Given the description of an element on the screen output the (x, y) to click on. 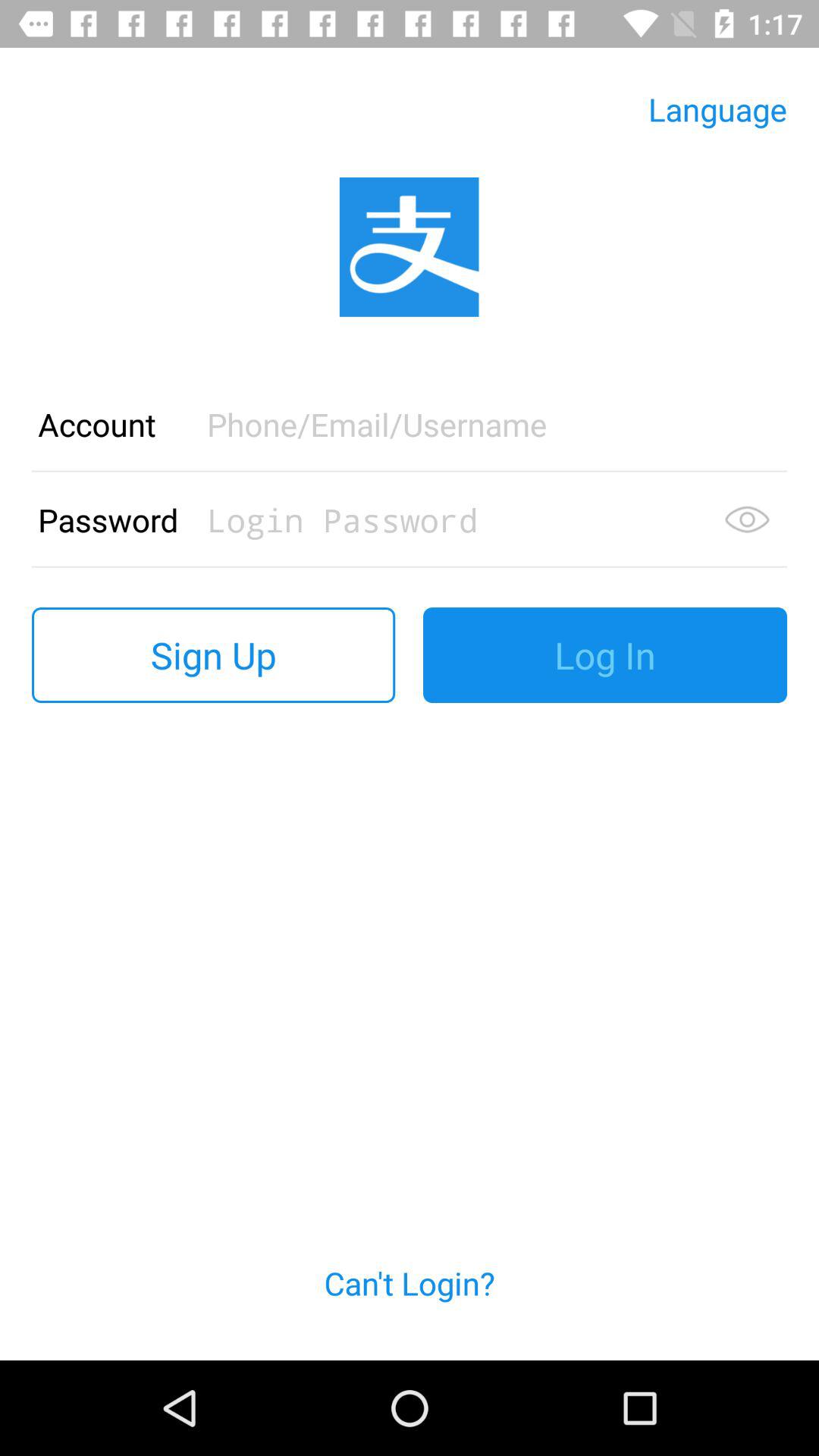
open item to the left of the log in button (213, 654)
